Given the description of an element on the screen output the (x, y) to click on. 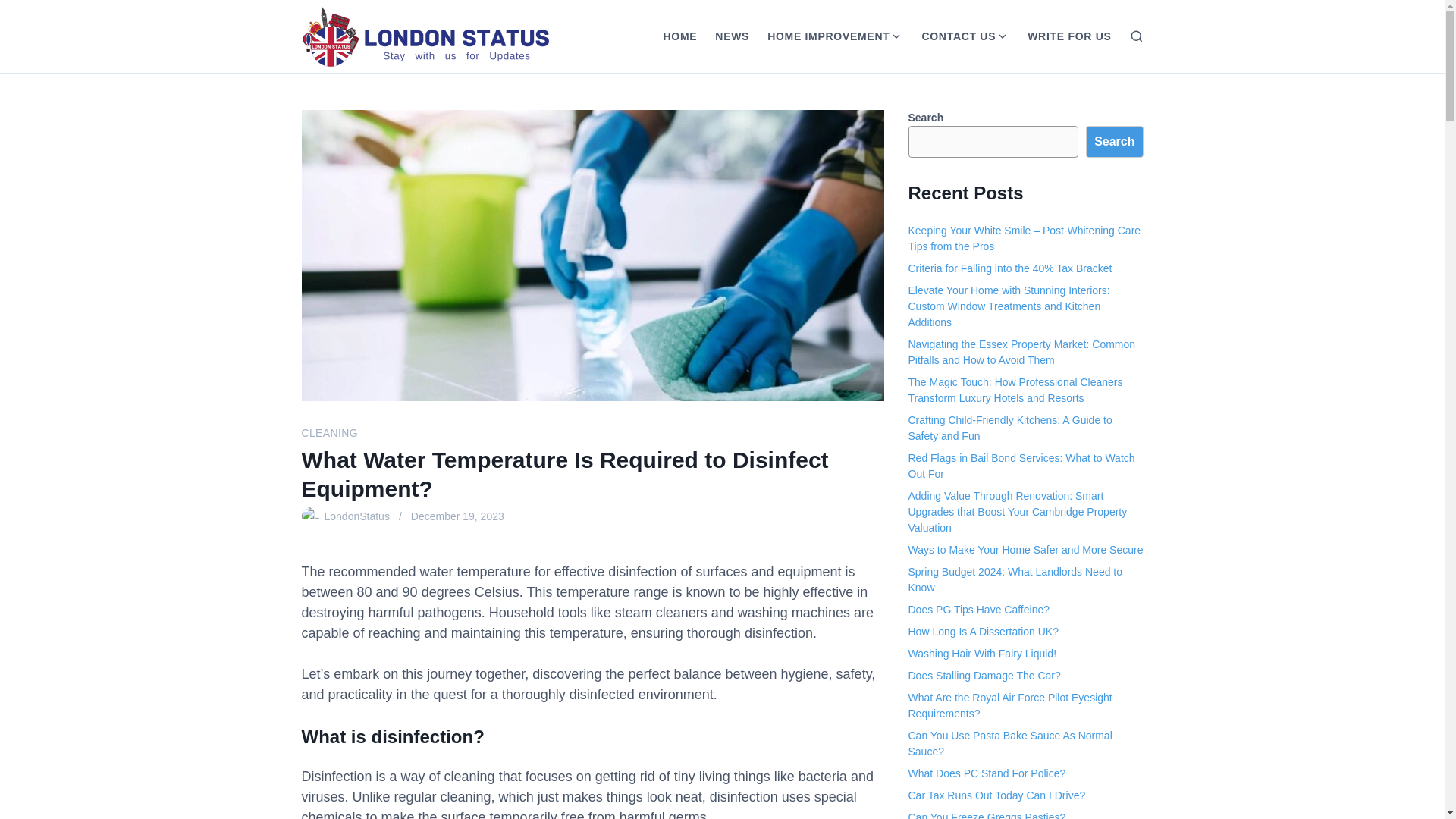
WRITE FOR US (1068, 36)
LondonStatus (357, 515)
Search (1114, 142)
HOME (679, 36)
CONTACT US (953, 36)
HOME IMPROVEMENT (823, 36)
CLEANING (329, 432)
NEWS (732, 36)
